Given the description of an element on the screen output the (x, y) to click on. 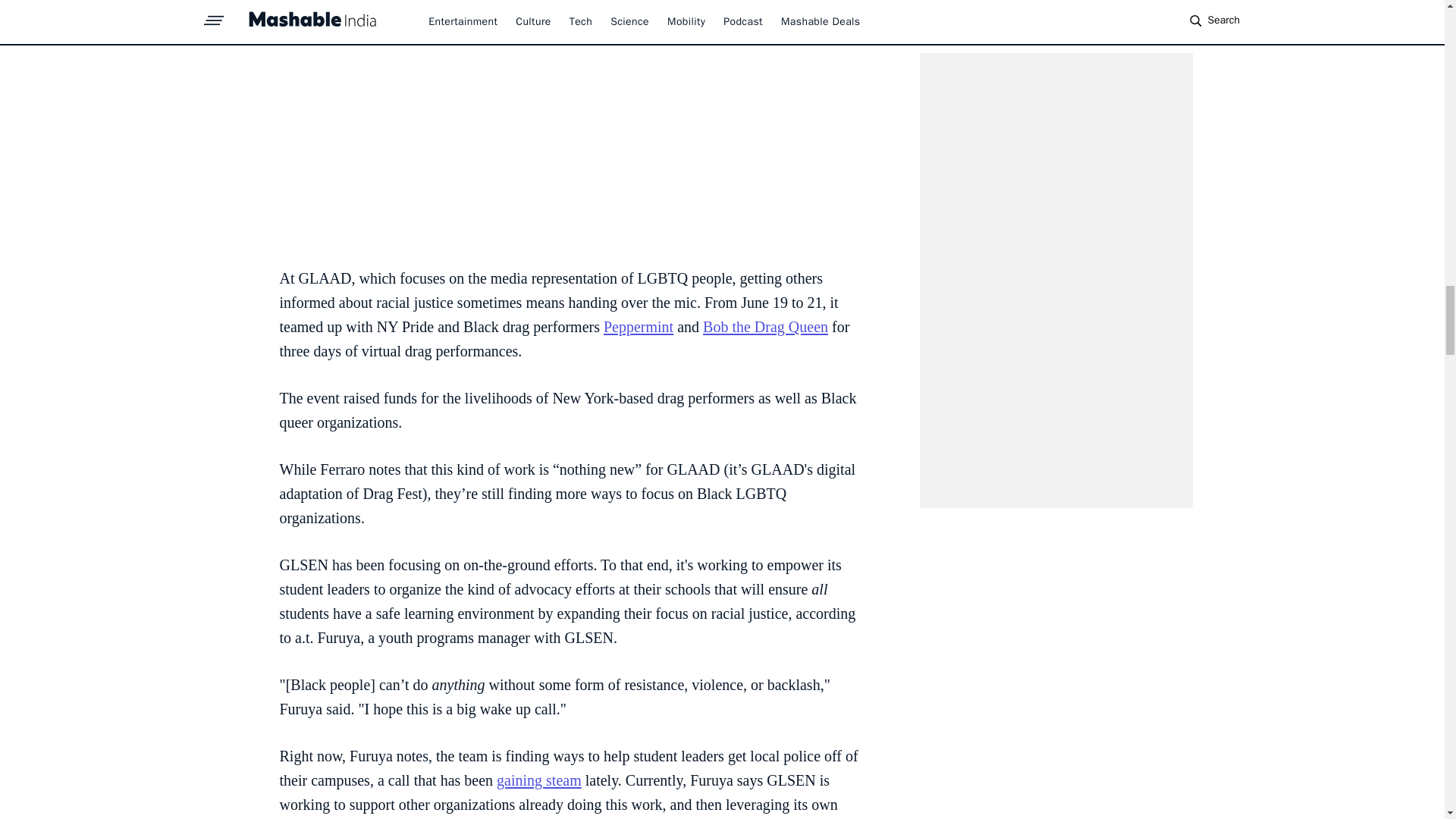
Twitter Tweet (570, 125)
